Given the description of an element on the screen output the (x, y) to click on. 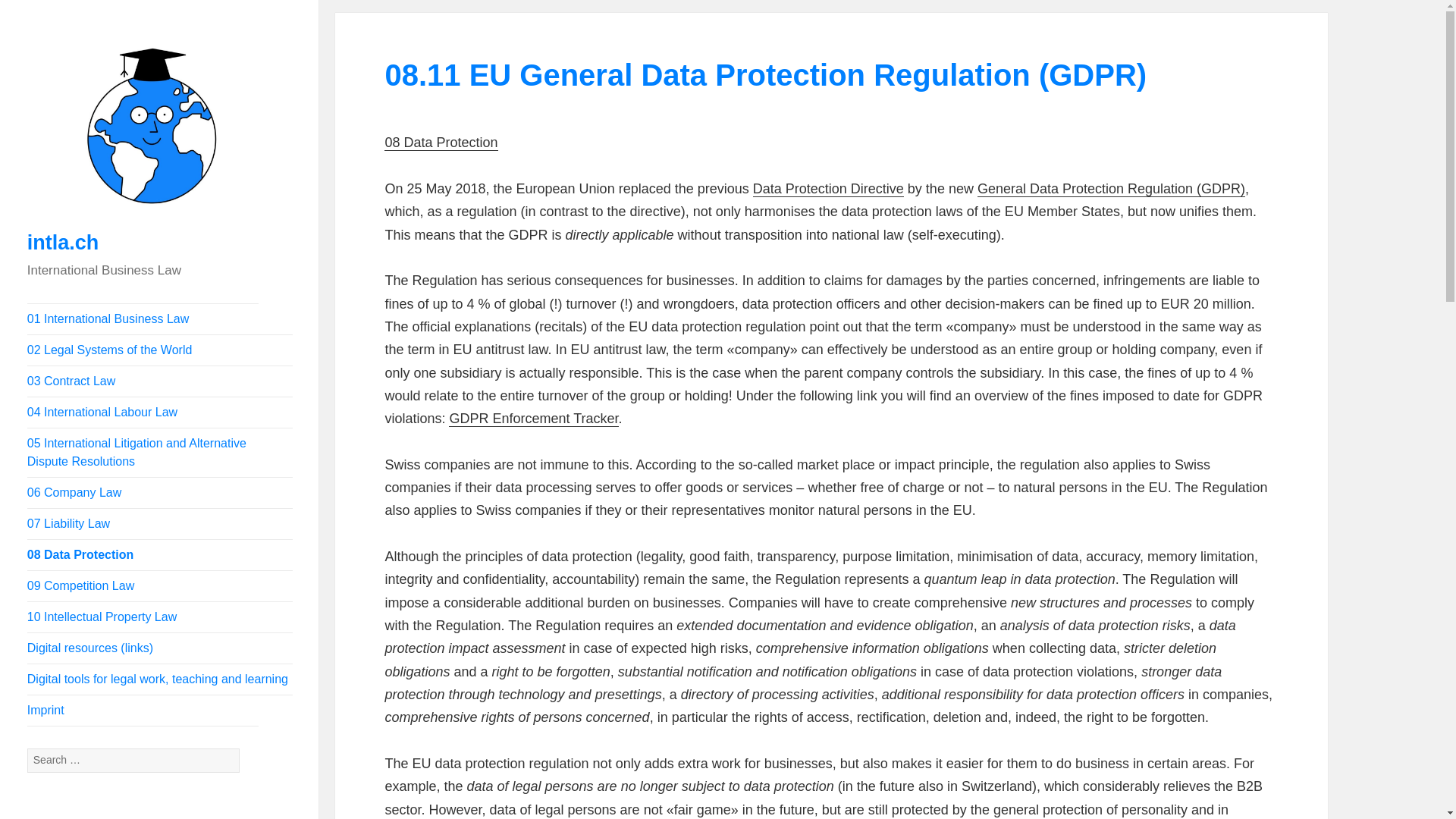
04 International Labour Law (159, 412)
02 Legal Systems of the World (159, 349)
intla.ch (63, 241)
01 International Business Law (159, 318)
03 Contract Law (159, 381)
